Given the description of an element on the screen output the (x, y) to click on. 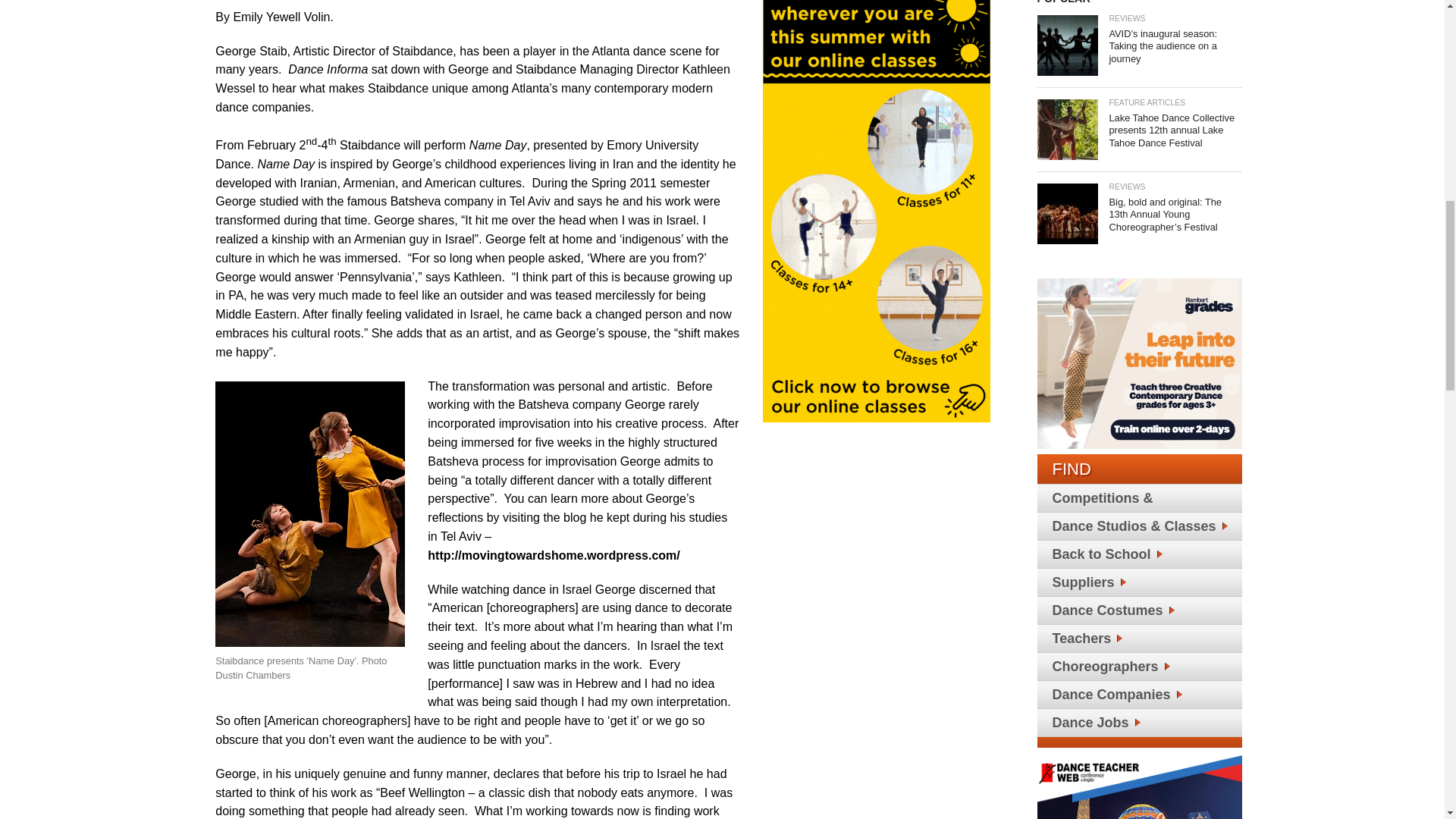
Staibdance (309, 514)
